Given the description of an element on the screen output the (x, y) to click on. 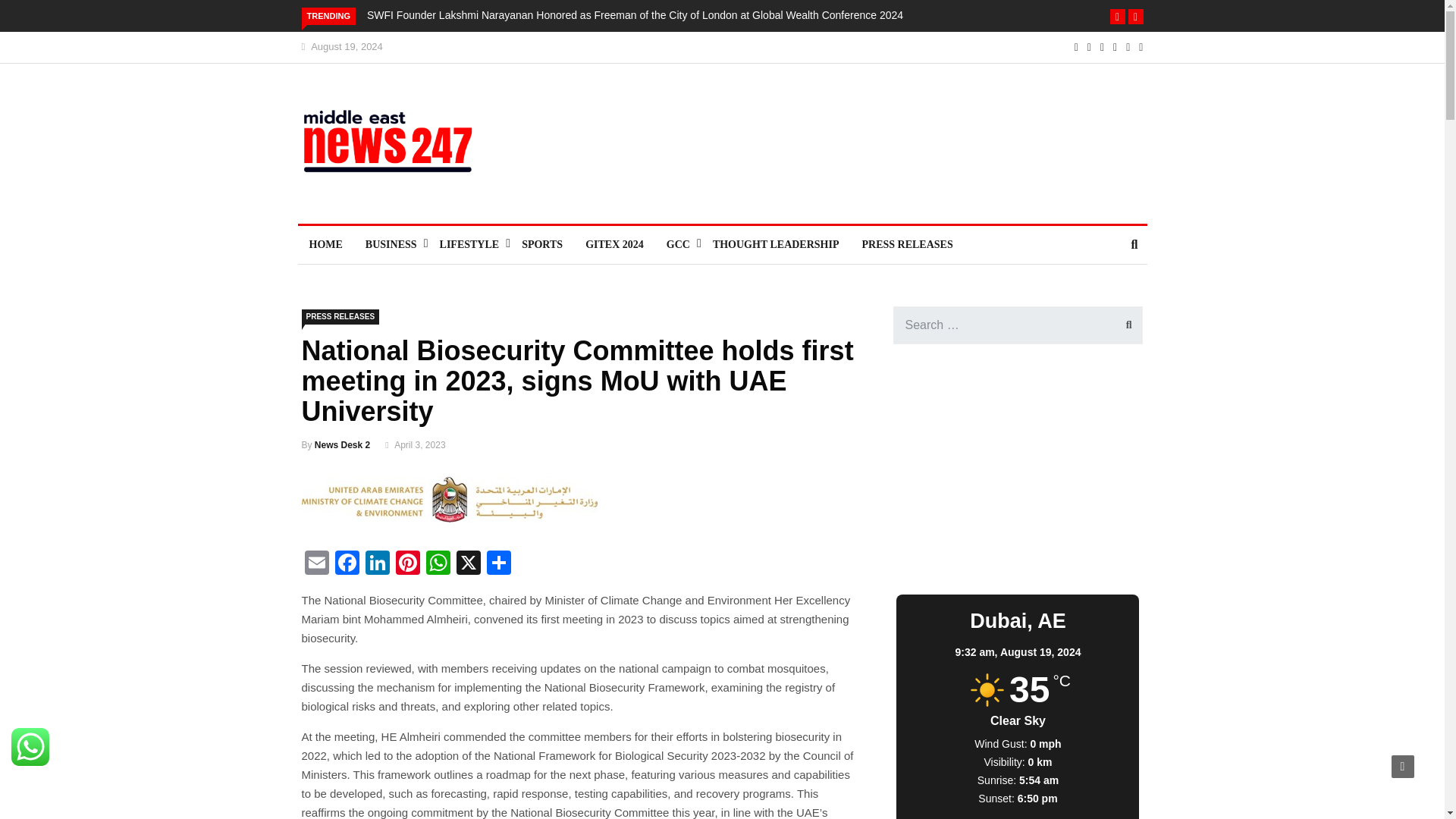
logo (398, 148)
BUSINESS (390, 244)
HOME (325, 244)
